Given the description of an element on the screen output the (x, y) to click on. 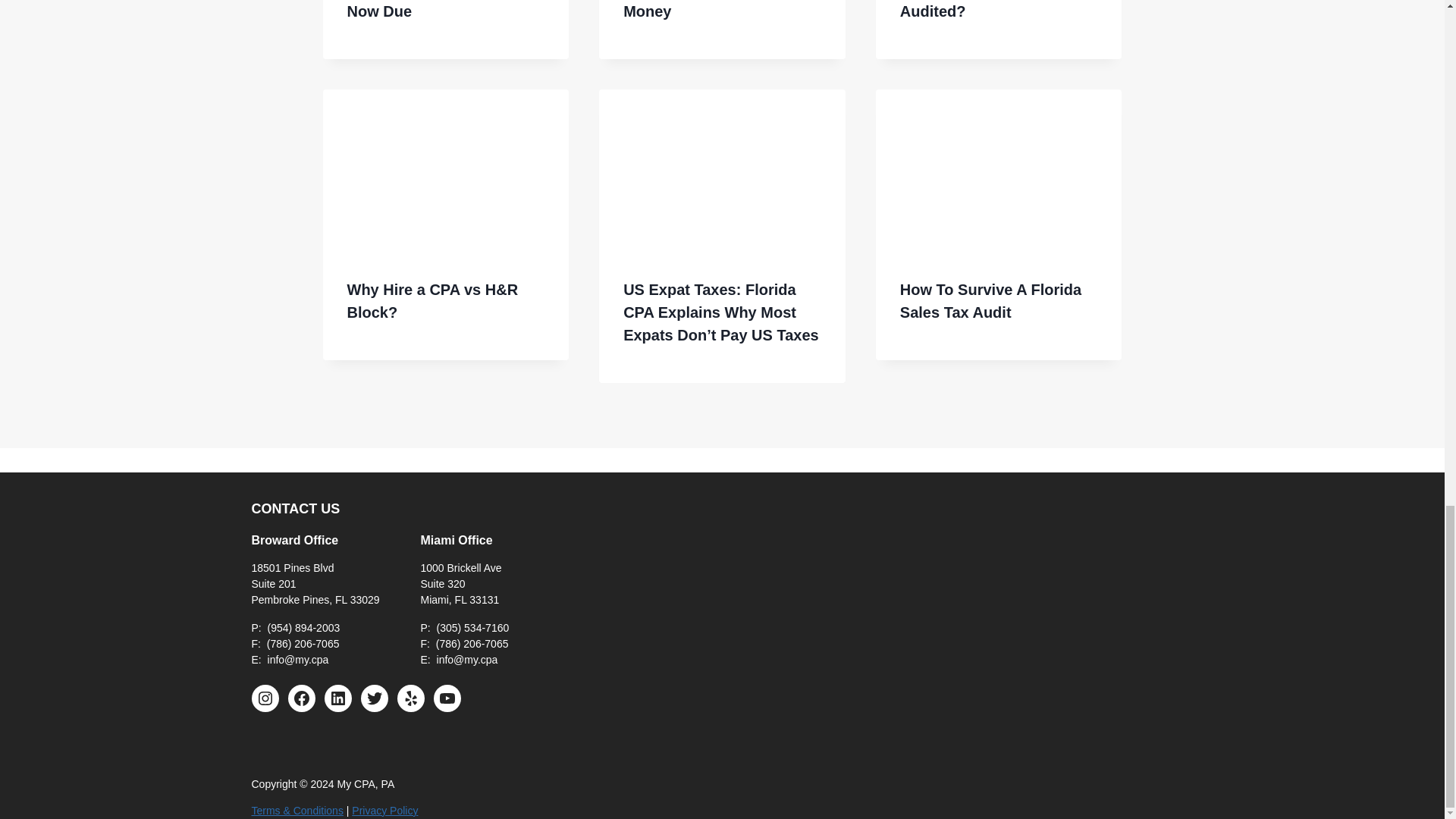
IRS Notice CP521: Your IRS Installment Payment Is Now Due (444, 9)
How Long Should I Keep My Receipts in Case I Am Audited? (991, 9)
10 Ways Doctors Are Cutting Costs And Saving Money (716, 9)
